Given the description of an element on the screen output the (x, y) to click on. 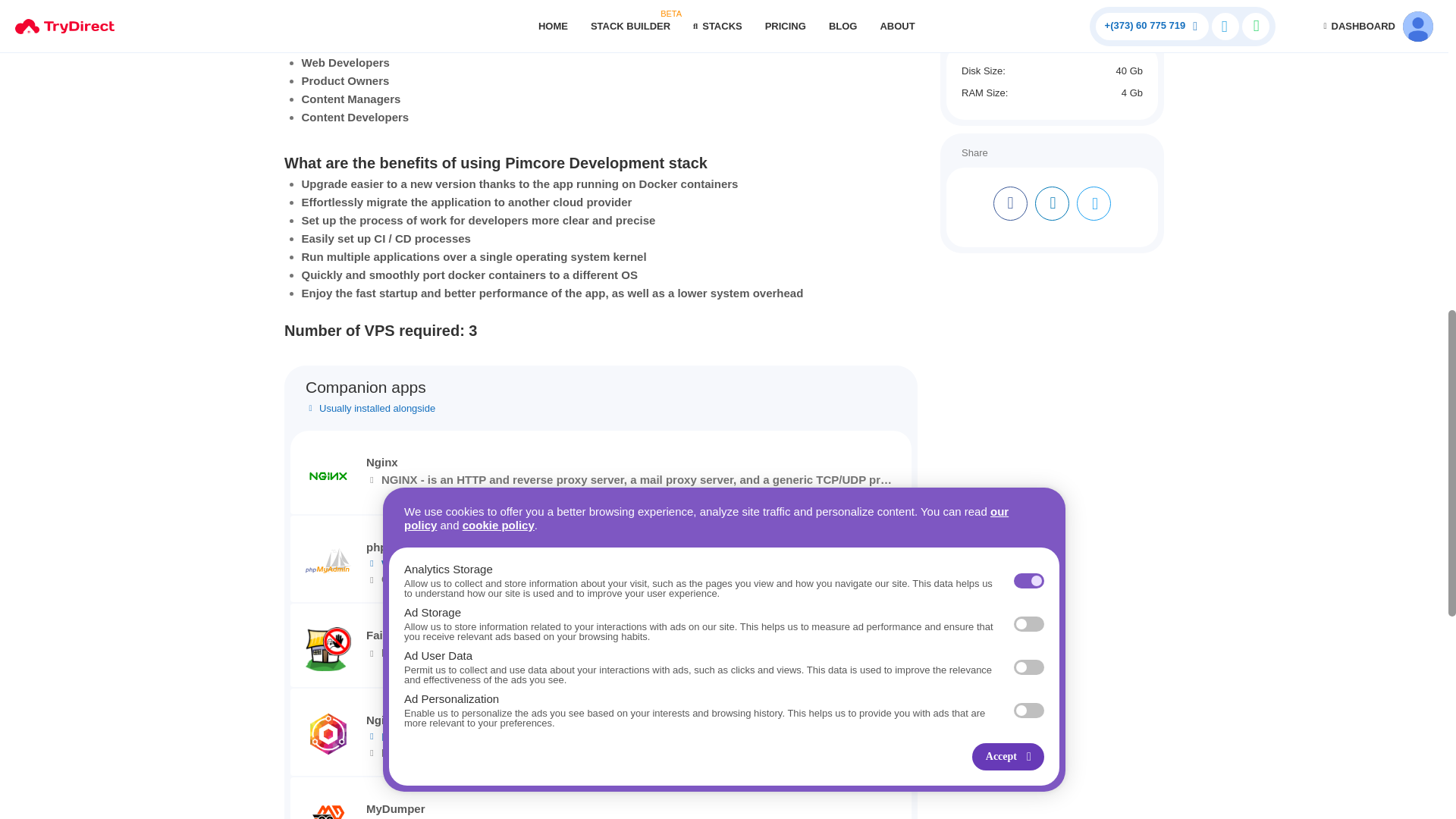
DAM (330, 1)
MDM (297, 1)
CDP (361, 1)
